Given the description of an element on the screen output the (x, y) to click on. 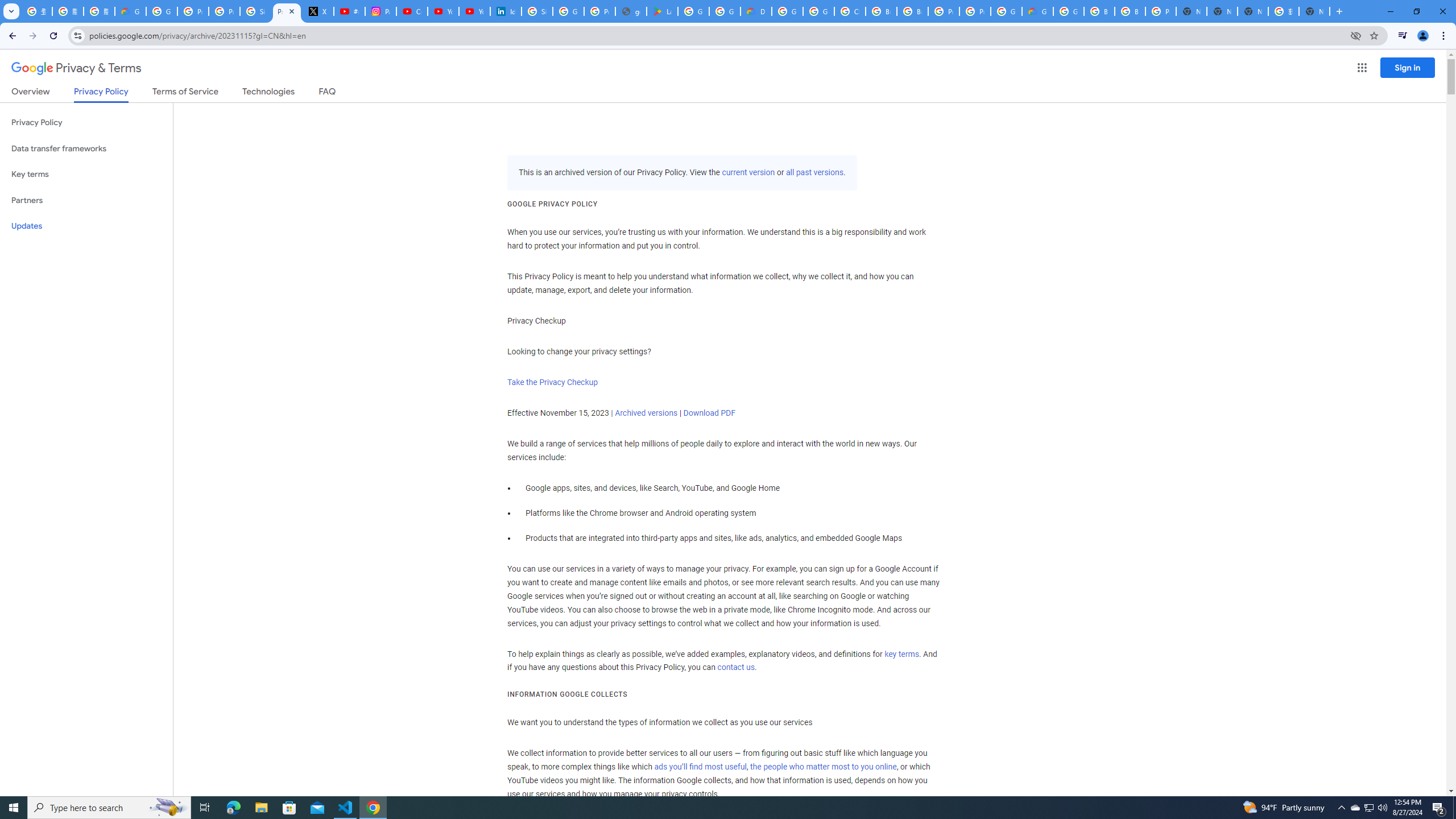
Archived versions (646, 412)
Download PDF (708, 412)
all past versions (813, 172)
Google Workspace - Specific Terms (724, 11)
Key terms (86, 174)
google_privacy_policy_en.pdf (631, 11)
